Given the description of an element on the screen output the (x, y) to click on. 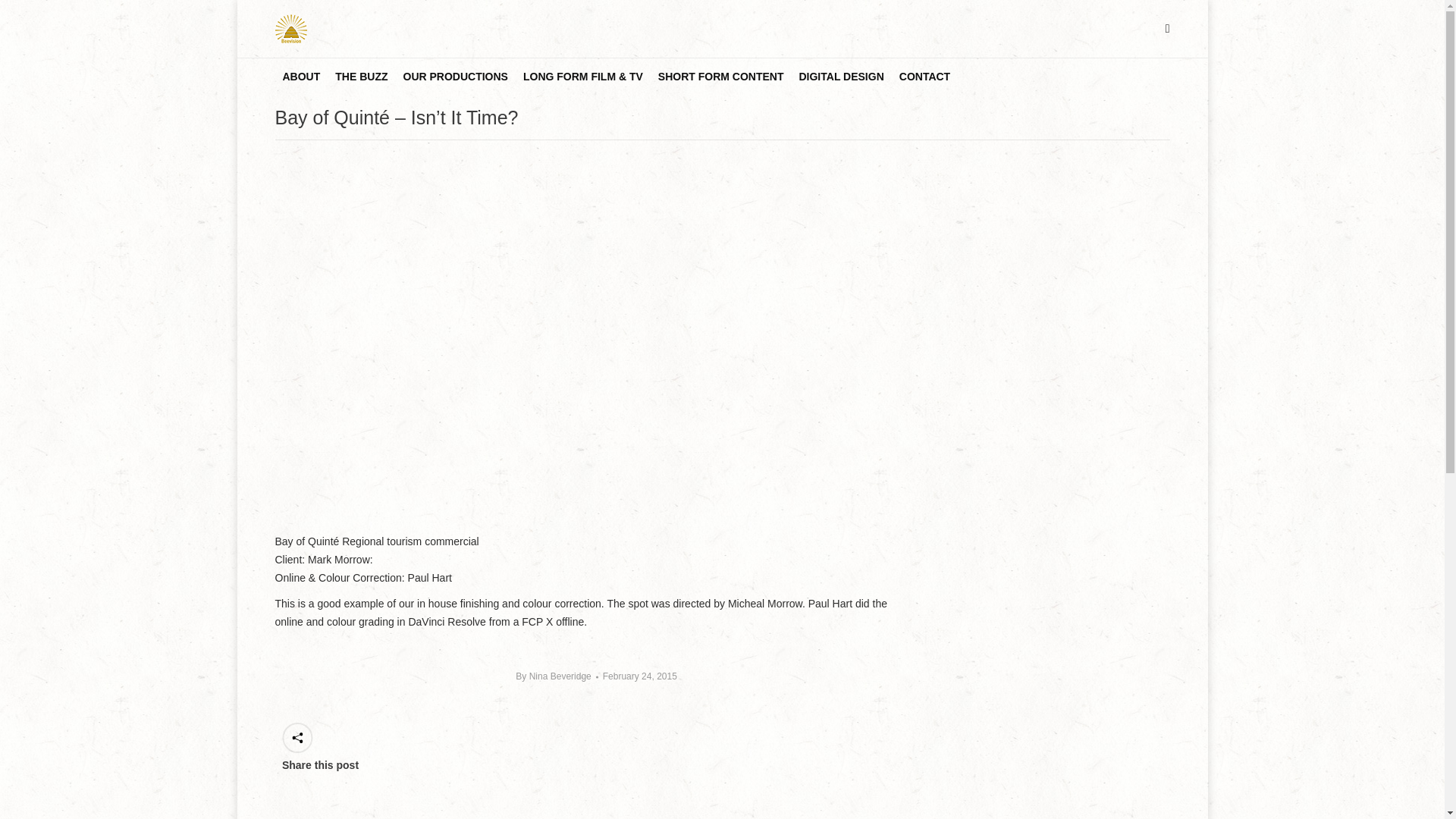
DIGITAL DESIGN (840, 76)
ABOUT (301, 76)
12:00 am (639, 676)
SHORT FORM CONTENT (721, 76)
By Nina Beveridge (555, 676)
OUR PRODUCTIONS (455, 76)
THE BUZZ (360, 76)
View all posts by Nina Beveridge (555, 676)
CONTACT (924, 76)
February 24, 2015 (639, 676)
Go! (24, 16)
